Given the description of an element on the screen output the (x, y) to click on. 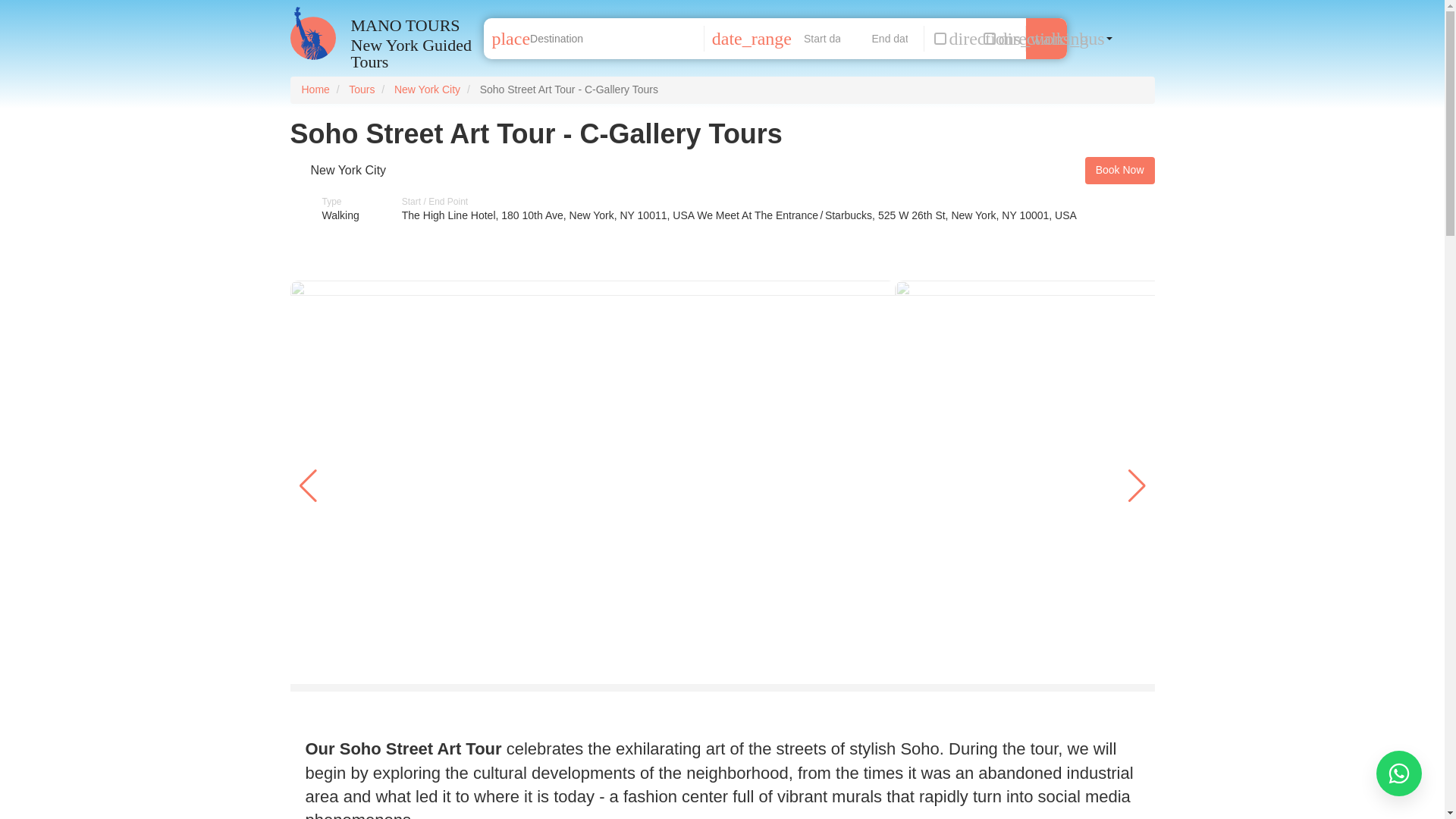
New York City (349, 169)
DISCOVER (1046, 38)
Home (315, 89)
Home (413, 24)
MANO TOURS (413, 24)
New York City (427, 89)
Tours (361, 89)
Book Now (1119, 170)
